Given the description of an element on the screen output the (x, y) to click on. 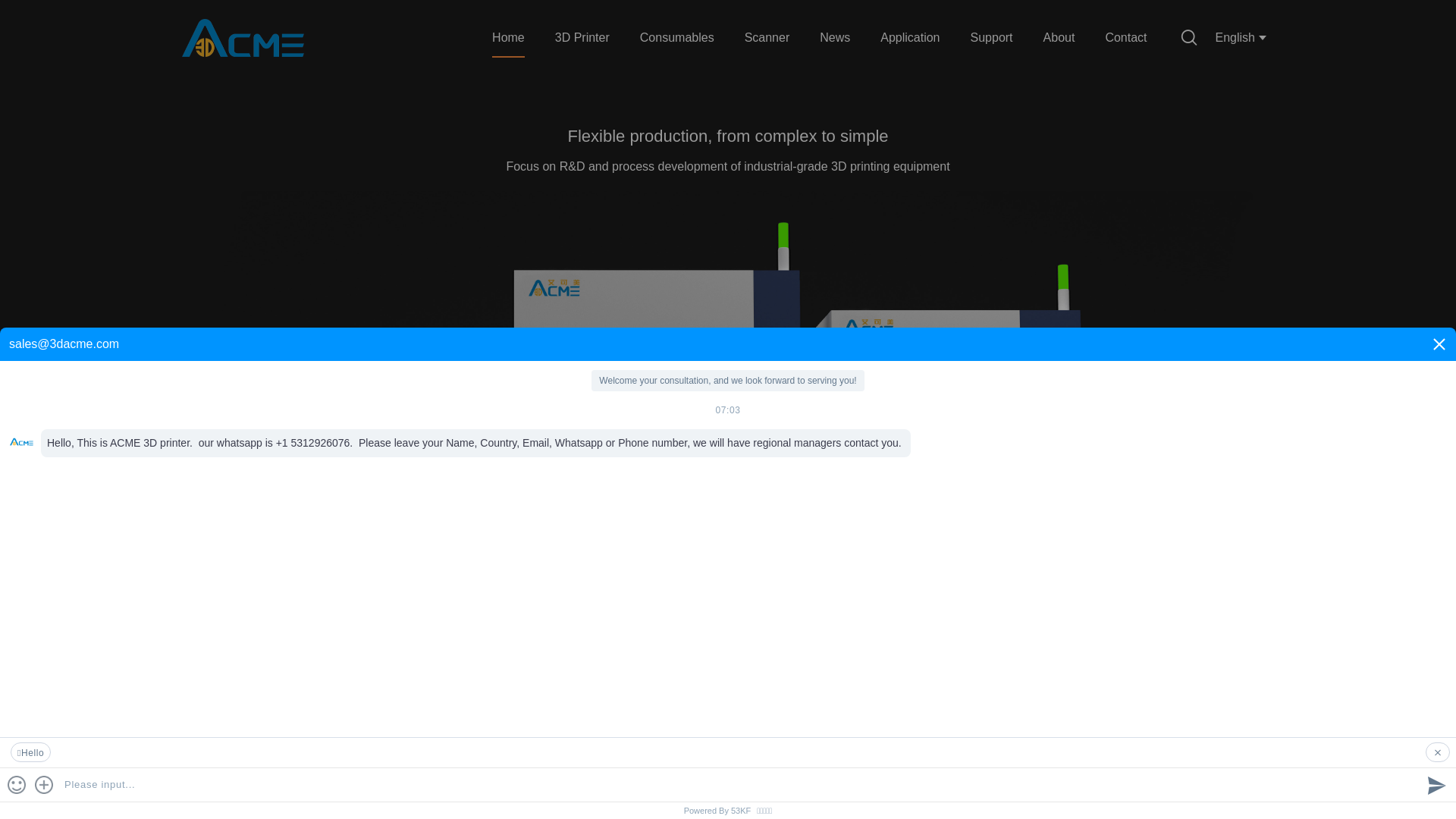
Contact Element type: text (1125, 37)
Support Element type: text (991, 37)
Consumables Element type: text (676, 37)
3D Printer Element type: text (581, 37)
News Element type: text (834, 37)
Appearance verification Element type: text (1205, 779)
Electronics Element type: text (249, 779)
Dentistry Element type: text (386, 779)
Home Element type: text (507, 37)
Design verification Element type: text (932, 779)
Architecture Element type: text (659, 779)
Small Batch Production Element type: text (795, 779)
Scanner Element type: text (767, 37)
1 Element type: text (1332, 604)
Production process Element type: text (1068, 779)
Education Element type: text (522, 779)
1 Element type: text (1285, 650)
Application Element type: text (909, 37)
About Element type: text (1059, 37)
